Given the description of an element on the screen output the (x, y) to click on. 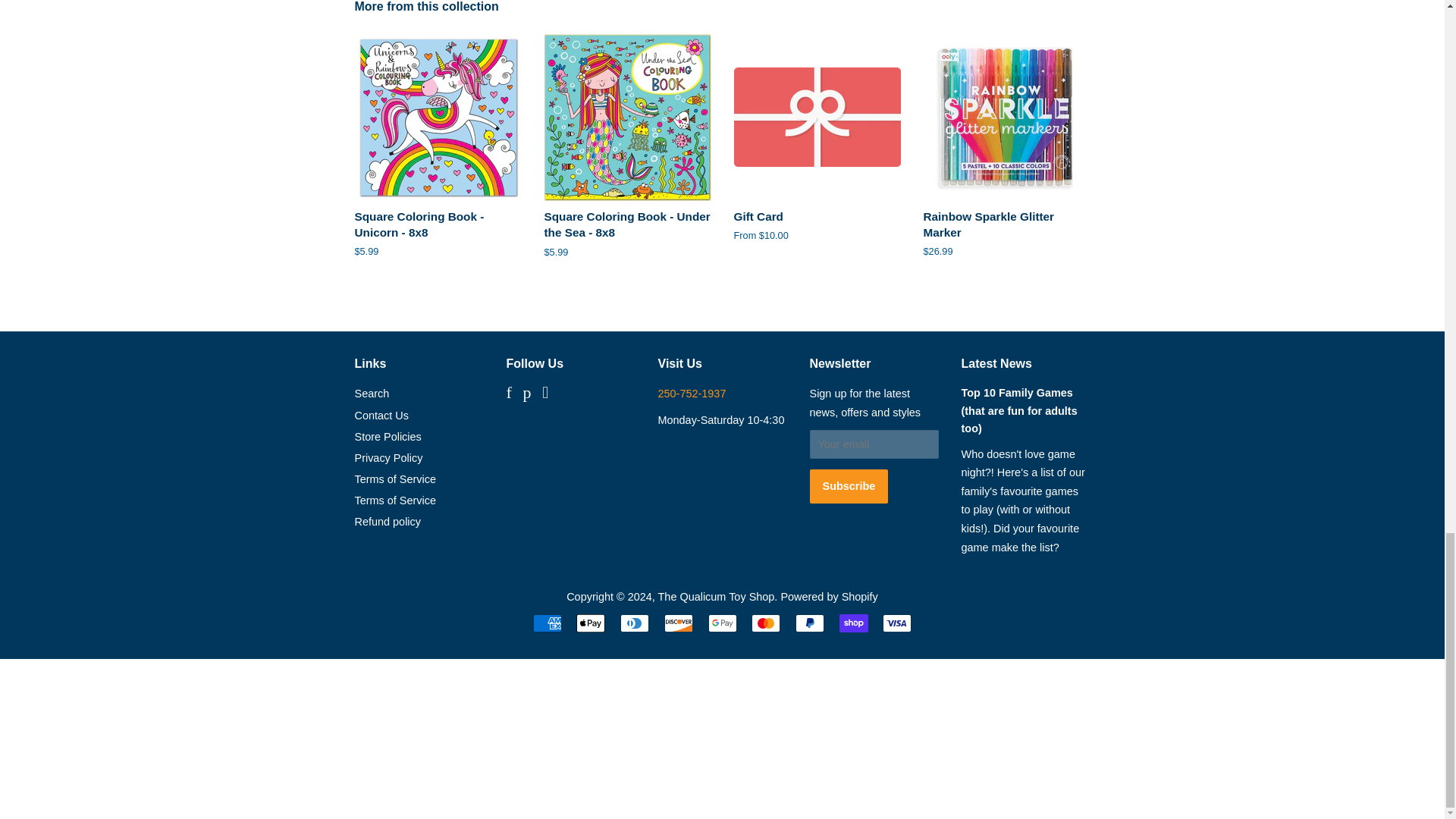
Shop Pay (853, 623)
Mastercard (765, 623)
Subscribe (848, 485)
Apple Pay (590, 623)
Discover (678, 623)
PayPal (809, 623)
Visa (896, 623)
Google Pay (721, 623)
Diners Club (634, 623)
American Express (547, 623)
